Given the description of an element on the screen output the (x, y) to click on. 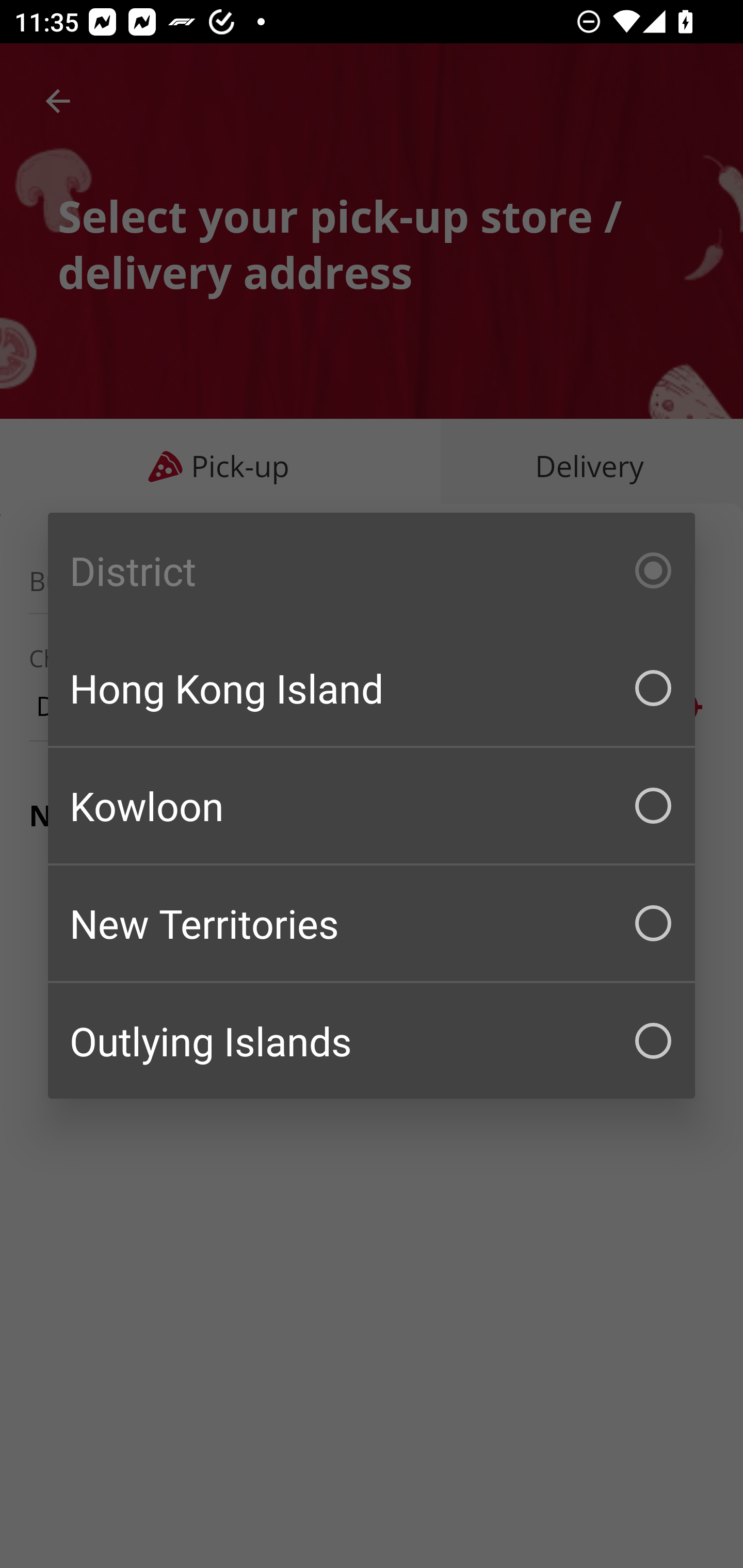
Hong Kong Island (371, 688)
Kowloon (371, 805)
New Territories (371, 923)
Outlying Islands (371, 1041)
